Given the description of an element on the screen output the (x, y) to click on. 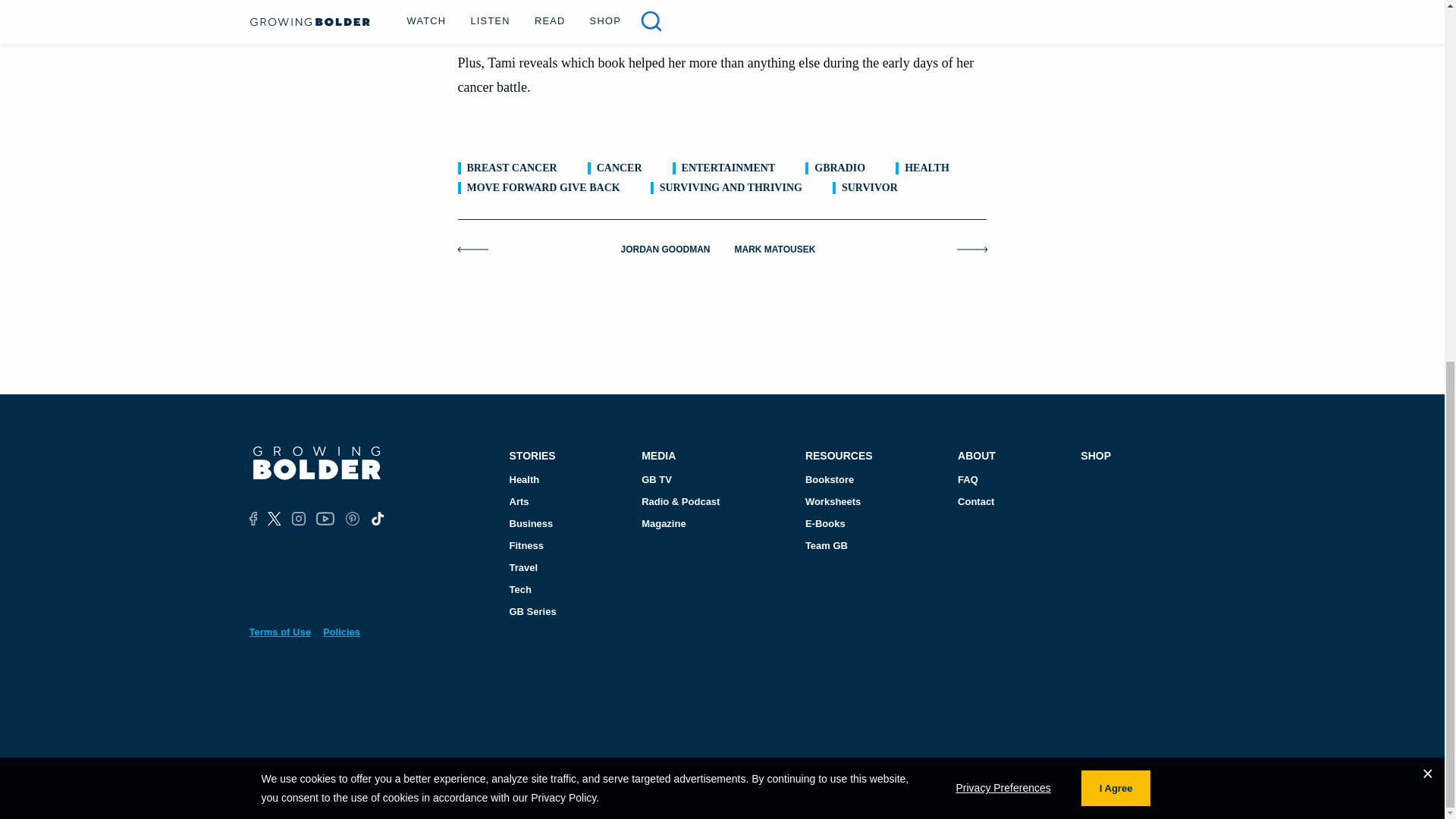
Link to: health (926, 168)
BREAST CANCER (512, 168)
tiktok (376, 518)
Link to: breast cancer (512, 168)
CANCER (619, 168)
Link to: cancer (619, 168)
x (274, 518)
Link to: gbradio (838, 168)
Link to: entertainment (728, 168)
